Given the description of an element on the screen output the (x, y) to click on. 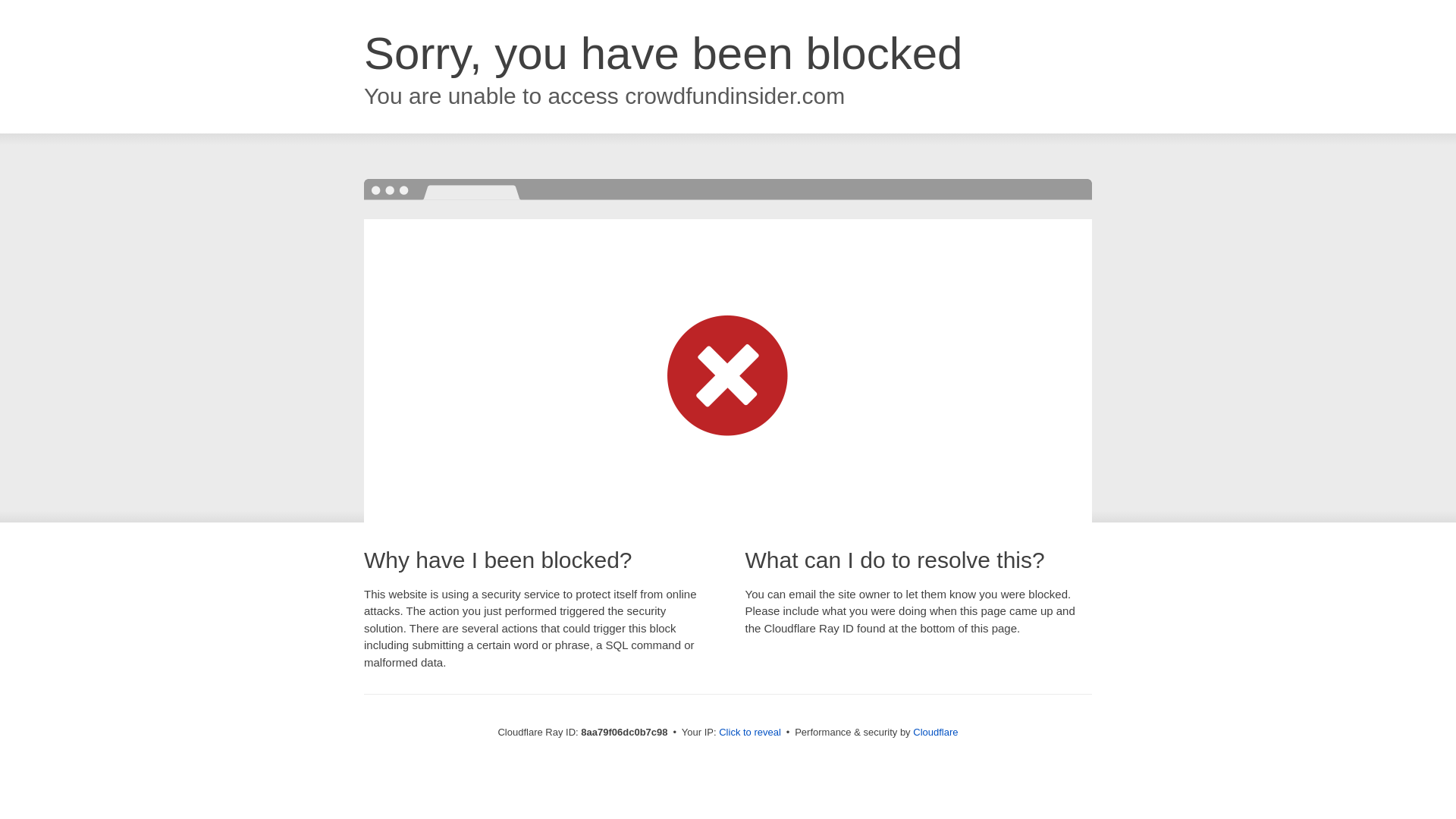
Cloudflare (935, 731)
Click to reveal (749, 732)
